Given the description of an element on the screen output the (x, y) to click on. 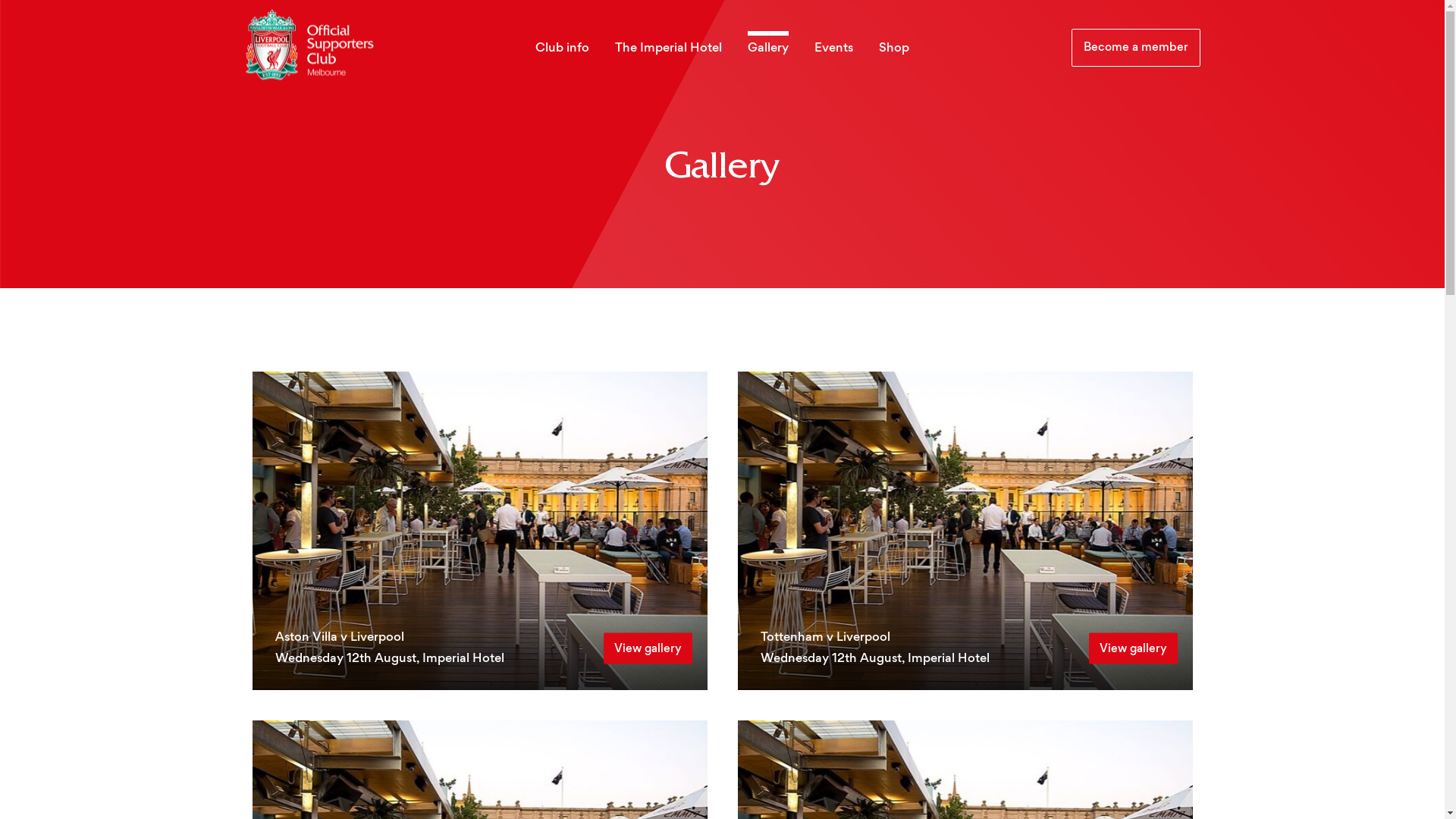
The Imperial Hotel Element type: text (668, 48)
Club info Element type: text (562, 48)
Gallery Element type: text (767, 48)
Events Element type: text (833, 48)
Become a member Element type: text (1134, 47)
View gallery Element type: text (647, 647)
View gallery Element type: text (1132, 647)
Shop Element type: text (893, 48)
